Given the description of an element on the screen output the (x, y) to click on. 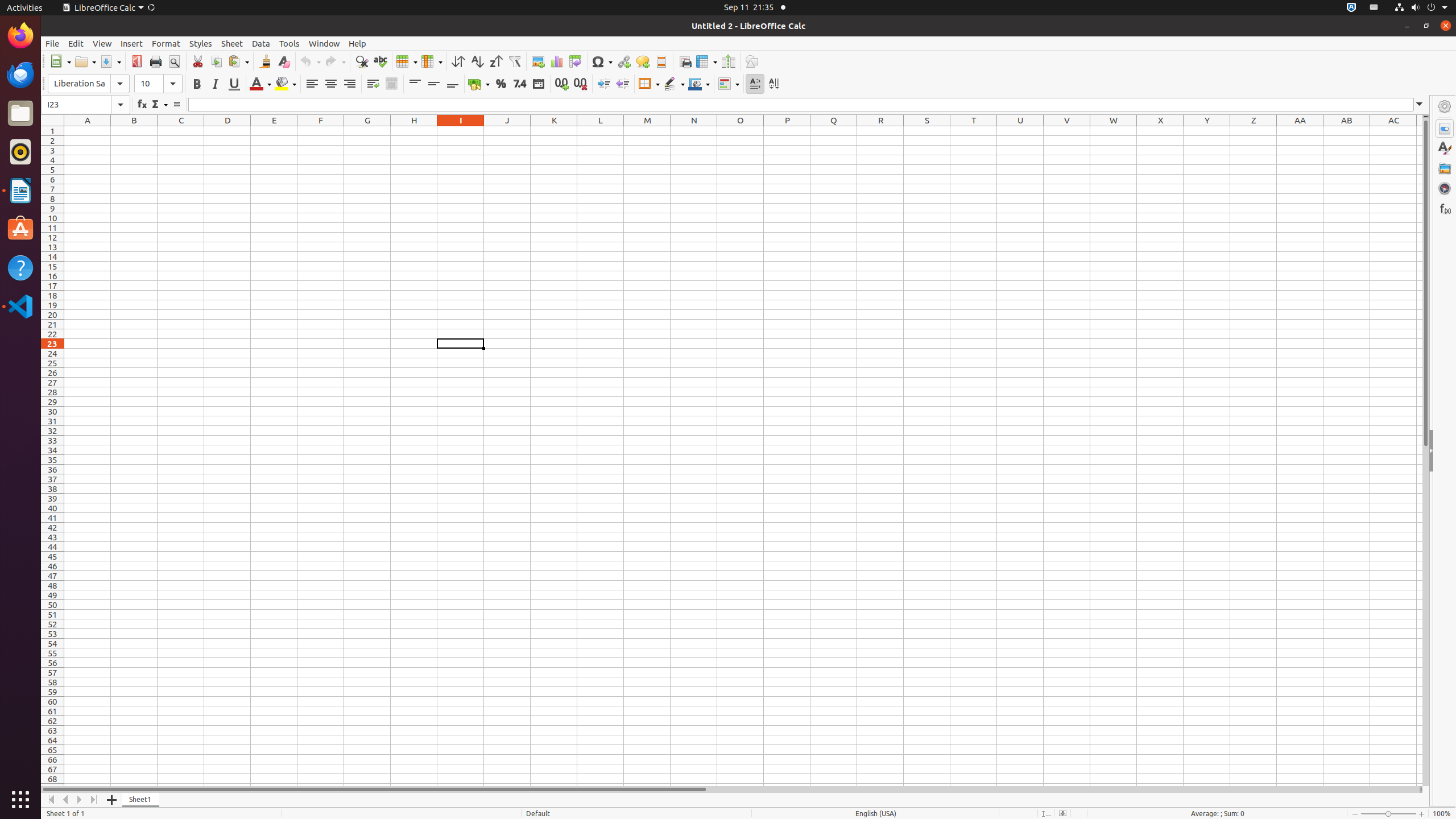
Freeze Rows and Columns Element type: push-button (705, 61)
Trash Element type: label (75, 108)
Window Element type: menu (324, 43)
Data Element type: menu (260, 43)
